Given the description of an element on the screen output the (x, y) to click on. 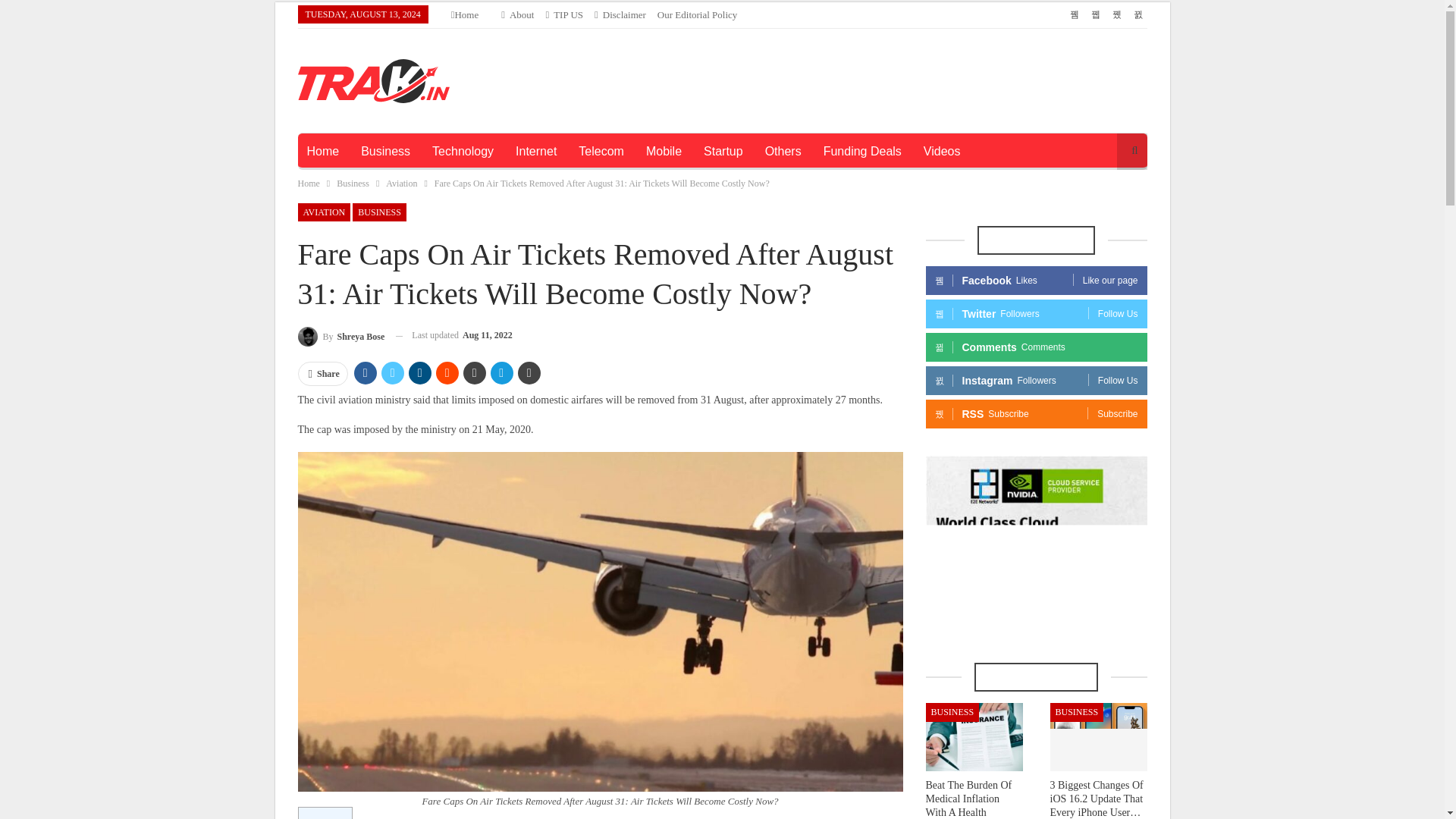
TIP US (563, 14)
AVIATION (323, 212)
Home (322, 151)
Telecom (601, 151)
BUSINESS (379, 212)
Aviation (400, 183)
Funding Deals (862, 151)
Business (352, 183)
Our Editorial Policy (697, 14)
Business (385, 151)
